Given the description of an element on the screen output the (x, y) to click on. 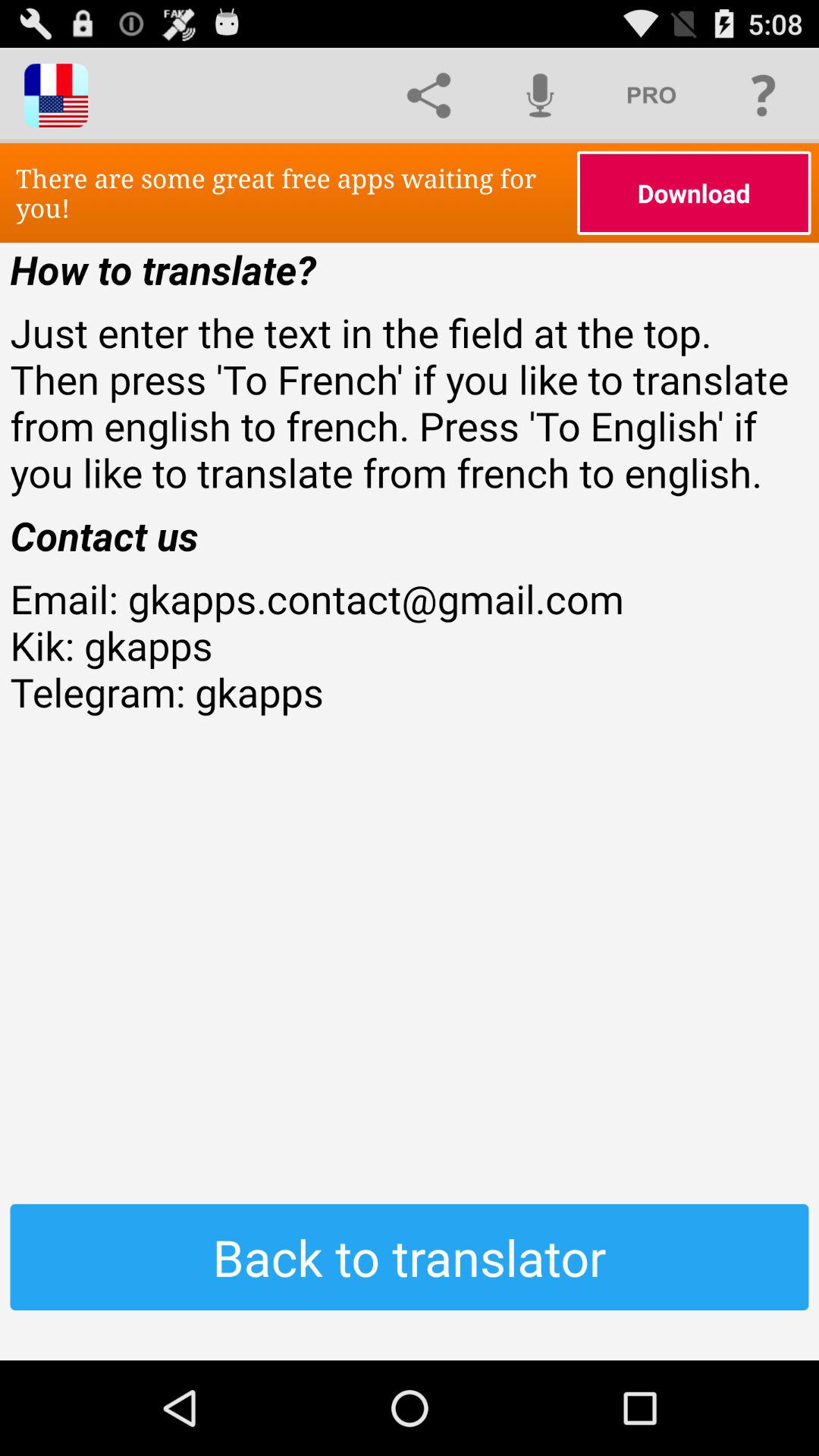
open icon to the right of there are some icon (694, 192)
